Given the description of an element on the screen output the (x, y) to click on. 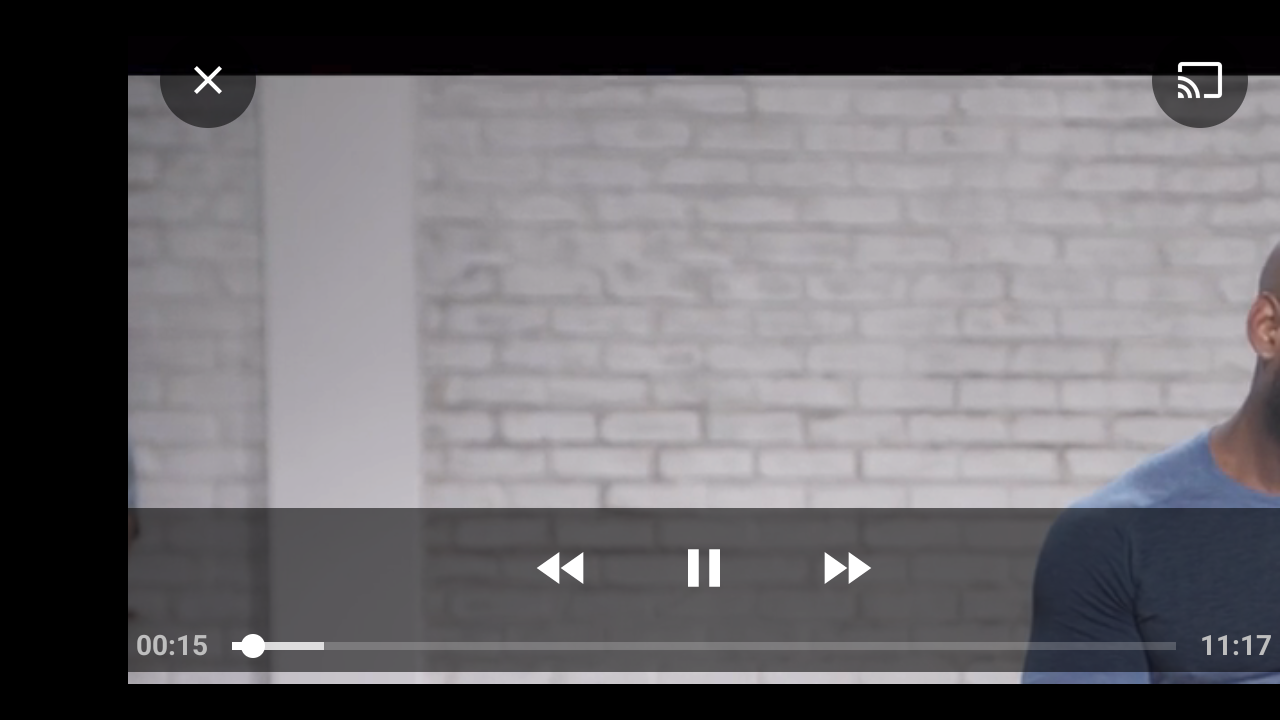
Cast. Disconnected (1200, 79)
Rewind (562, 567)
Pause (703, 567)
Fast forward (845, 567)
